Given the description of an element on the screen output the (x, y) to click on. 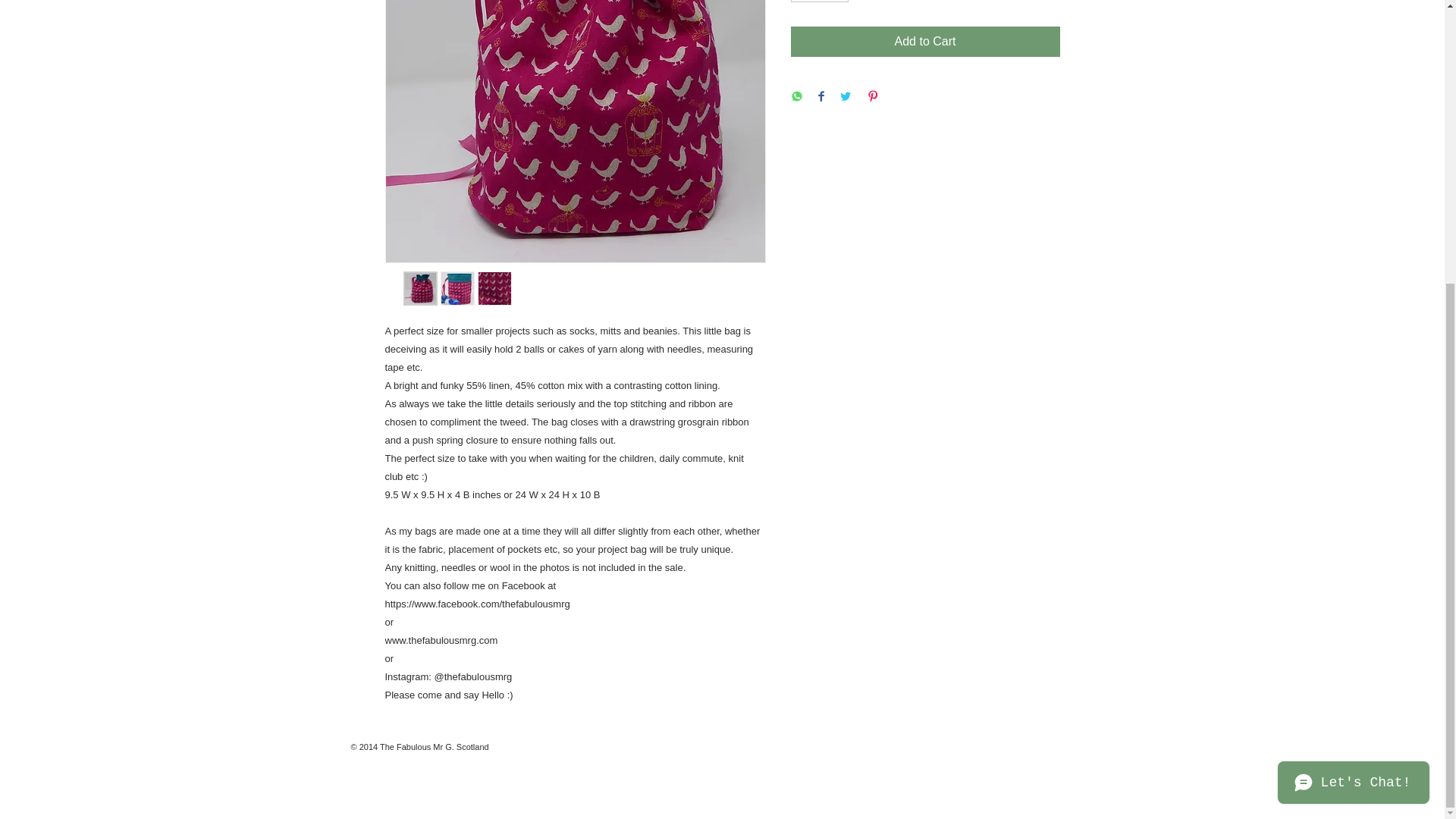
1 (818, 1)
Add to Cart (924, 41)
